Given the description of an element on the screen output the (x, y) to click on. 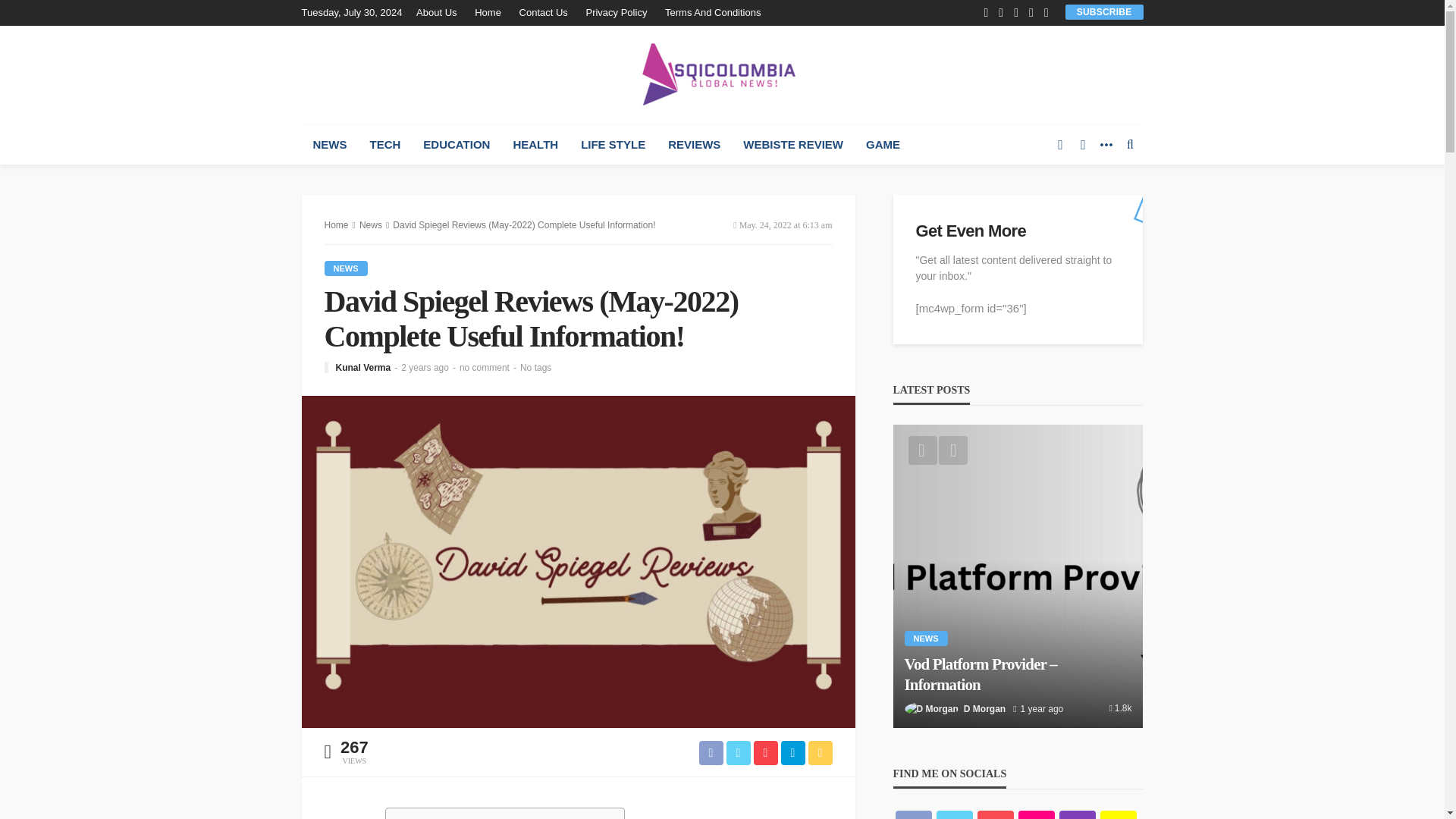
Terms And Conditions (713, 12)
LIFE STYLE (612, 144)
REVIEWS (694, 144)
Contact Us (543, 12)
SUBSCRIBE (1103, 11)
Home (487, 12)
subscribe (1103, 11)
EDUCATION (456, 144)
HEALTH (534, 144)
sqicolombia (721, 74)
NEWS (329, 144)
TECH (385, 144)
About Us (440, 12)
Privacy Policy (615, 12)
